Given the description of an element on the screen output the (x, y) to click on. 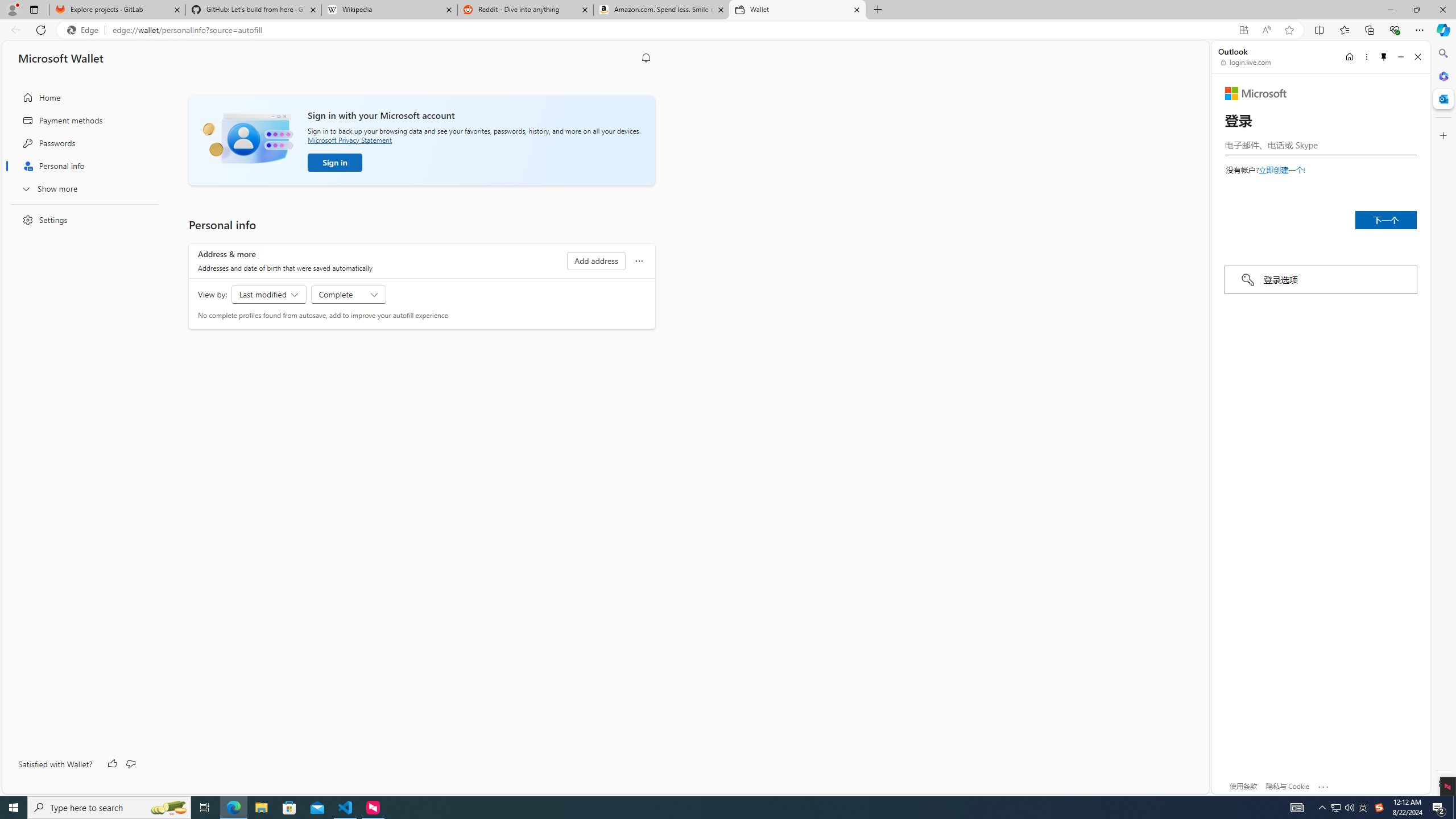
App available. Install Microsoft Wallet (1243, 29)
Edge (84, 29)
Amazon.com. Spend less. Smile more. (660, 9)
Show more (81, 188)
Payment methods (81, 120)
